Given the description of an element on the screen output the (x, y) to click on. 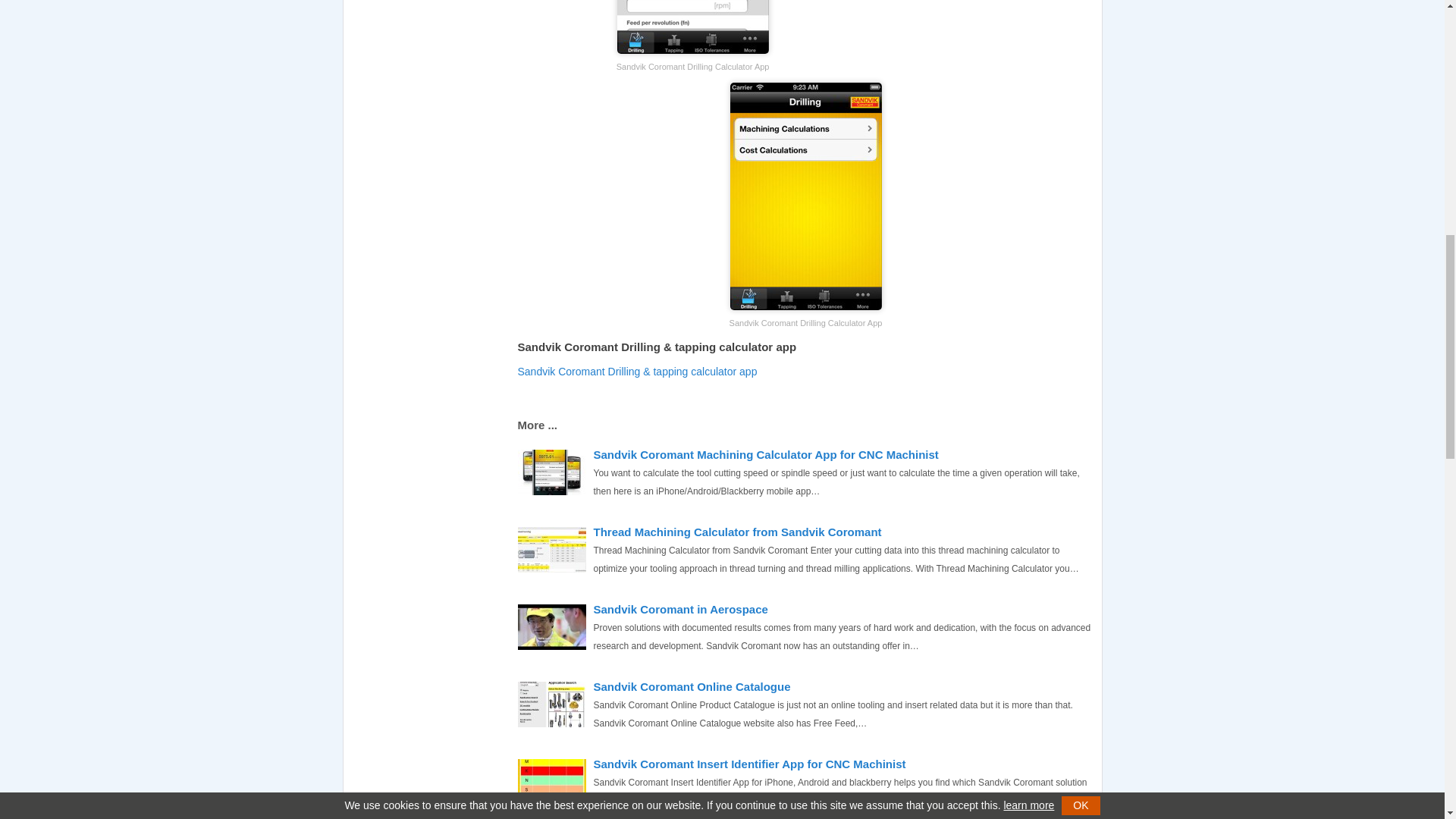
Sandvik Coromant Drilling Calculator App (804, 196)
